Given the description of an element on the screen output the (x, y) to click on. 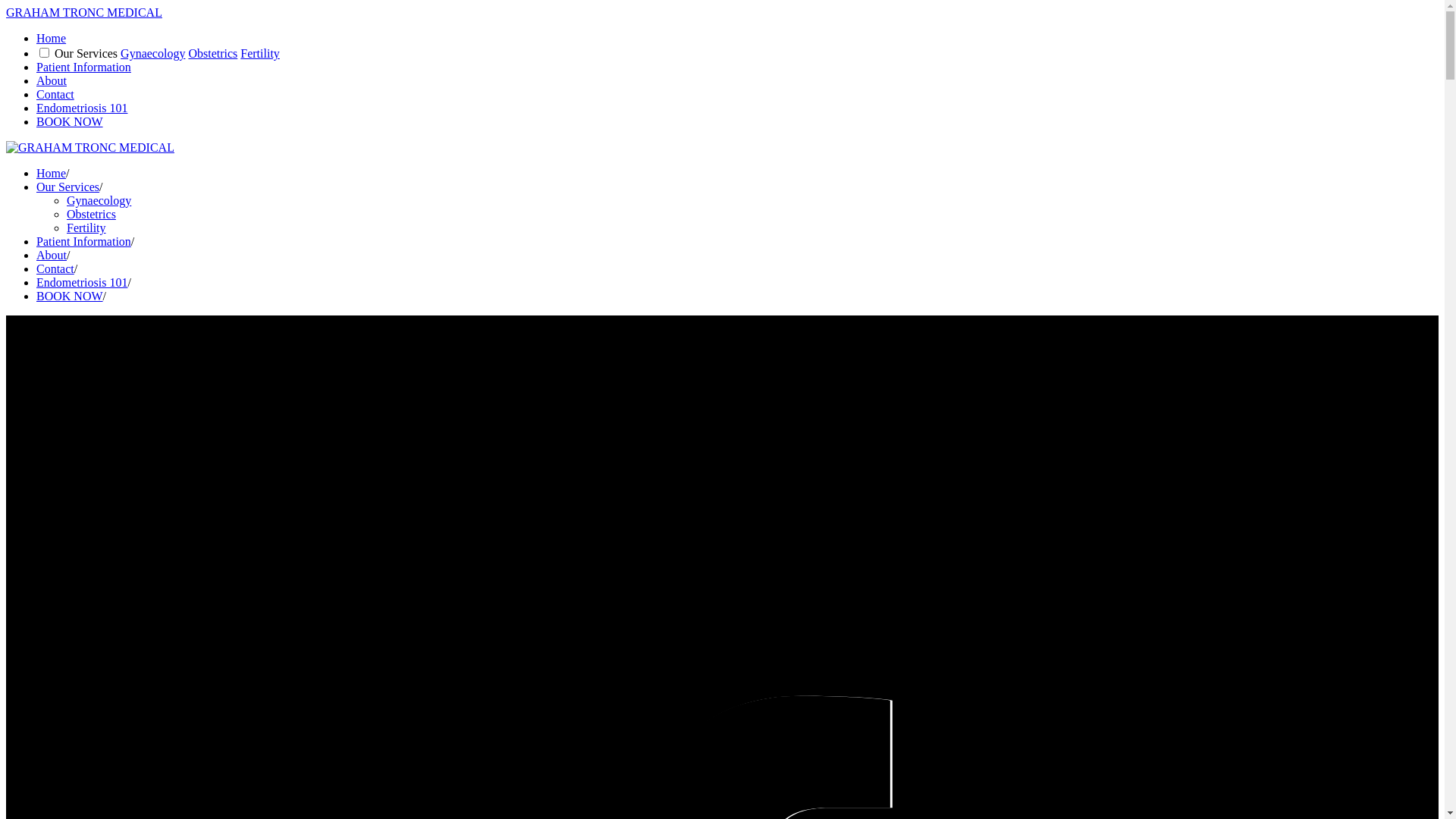
Fertility Element type: text (86, 227)
GRAHAM TRONC MEDICAL Element type: text (84, 12)
Endometriosis 101 Element type: text (81, 107)
BOOK NOW Element type: text (69, 295)
Patient Information Element type: text (83, 241)
Obstetrics Element type: text (212, 53)
Gynaecology Element type: text (152, 53)
Contact Element type: text (55, 93)
Home Element type: text (50, 172)
About Element type: text (51, 80)
Gynaecology Element type: text (98, 200)
Contact Element type: text (55, 268)
Fertility Element type: text (259, 53)
BOOK NOW Element type: text (69, 121)
Our Services Element type: text (67, 186)
Obstetrics Element type: text (91, 213)
About Element type: text (51, 254)
Patient Information Element type: text (83, 66)
Home Element type: text (50, 37)
Endometriosis 101 Element type: text (81, 282)
